Given the description of an element on the screen output the (x, y) to click on. 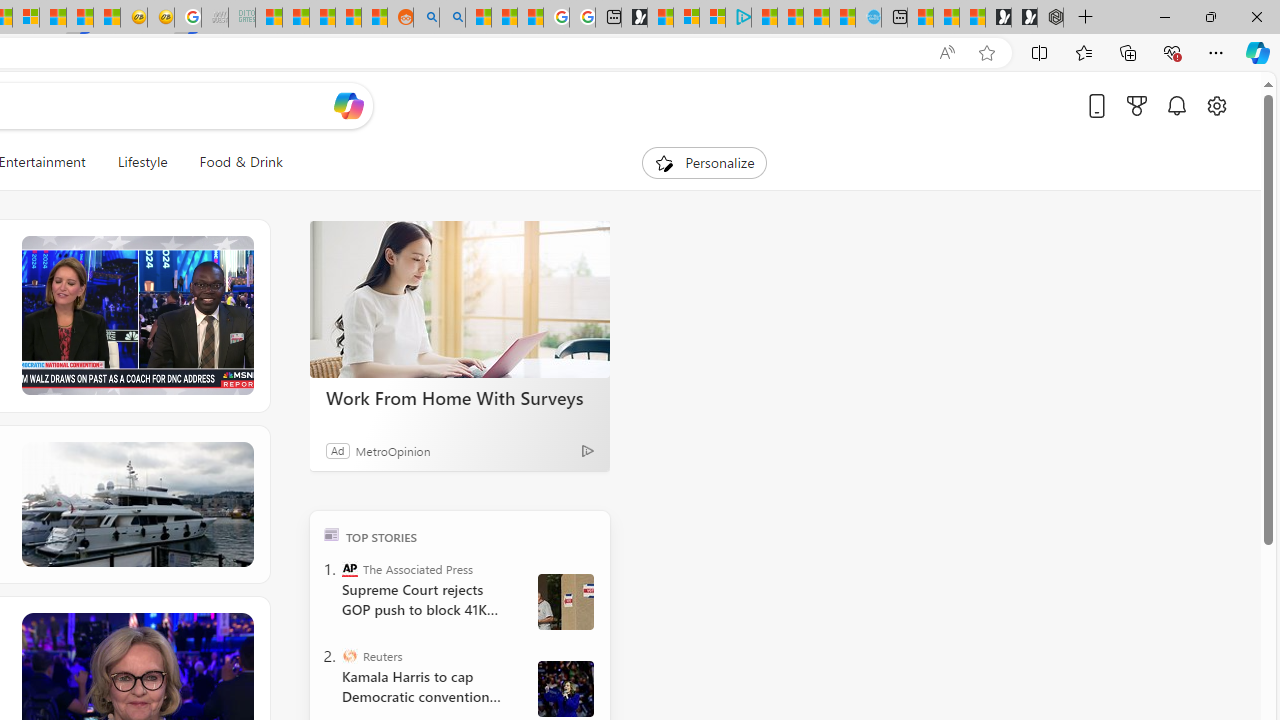
Food & Drink (240, 162)
Food & Drink (232, 162)
Lifestyle (141, 162)
Open settings (1216, 105)
DITOGAMES AG Imprint - Sleeping (241, 17)
 Harris and Walz campaign in Wisconsin (565, 688)
TOP (331, 534)
